Given the description of an element on the screen output the (x, y) to click on. 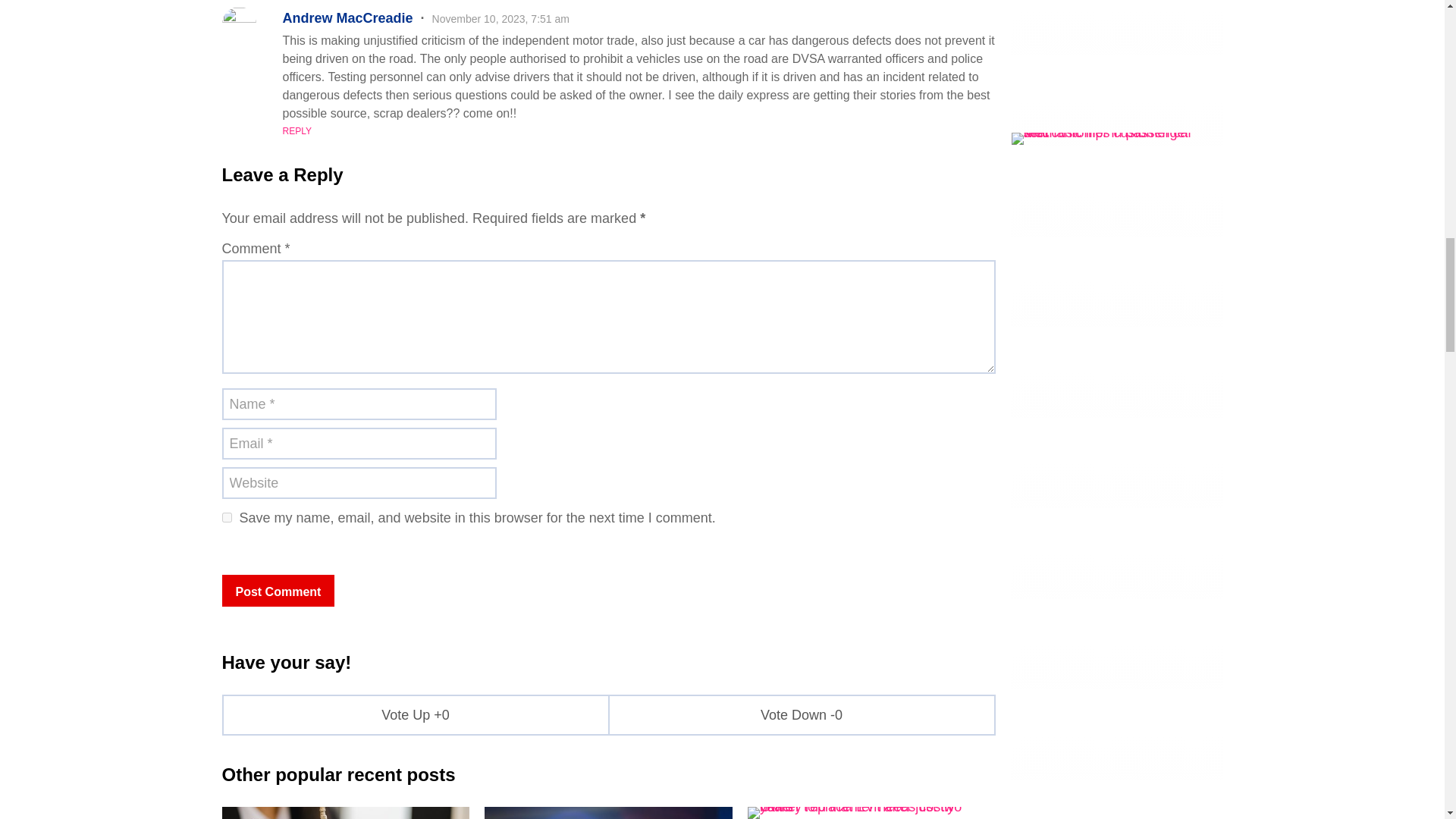
Post Comment (277, 590)
yes (226, 517)
